Given the description of an element on the screen output the (x, y) to click on. 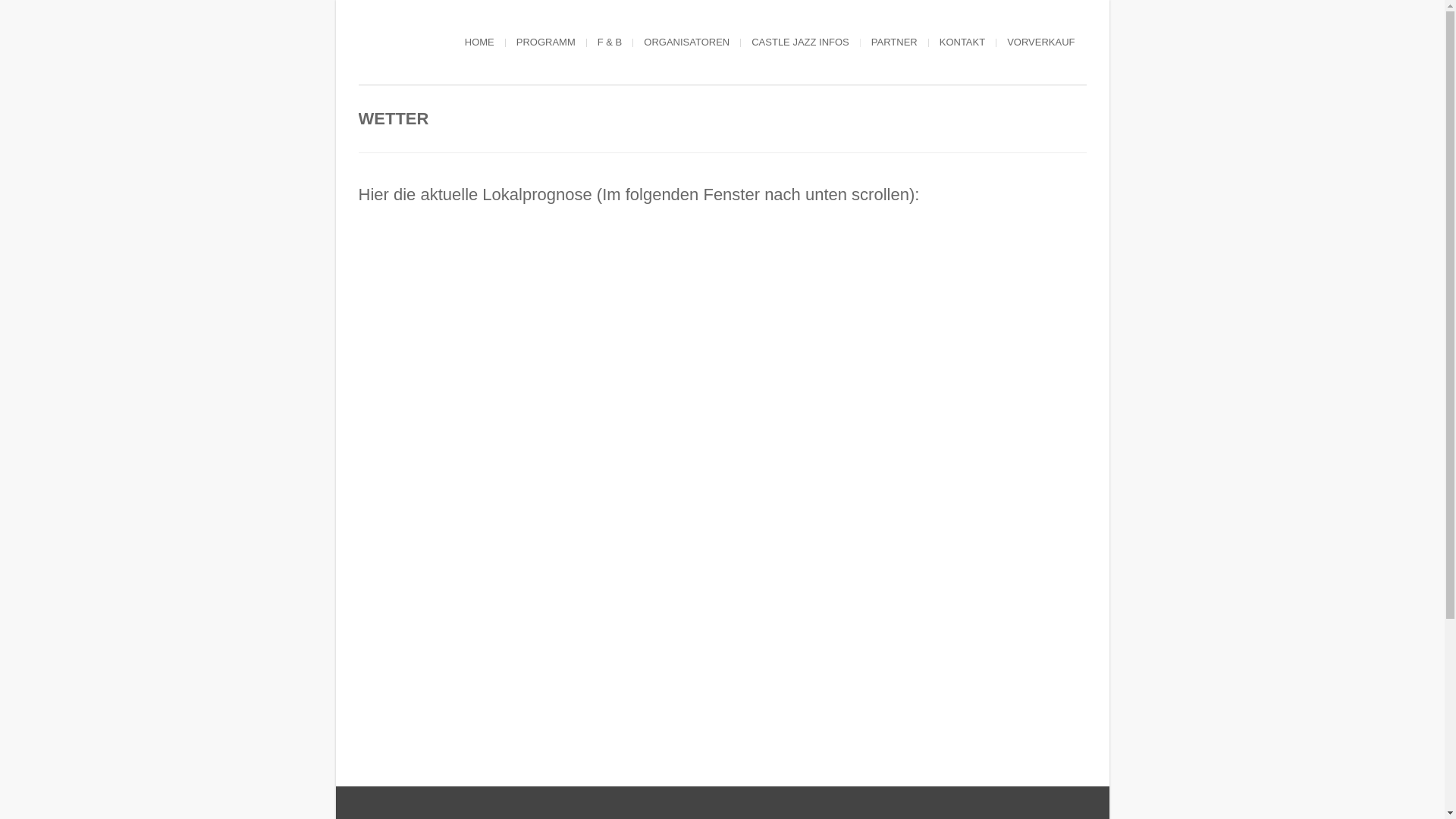
PROGRAMM Element type: text (545, 41)
HOME Element type: text (479, 41)
ORGANISATOREN Element type: text (686, 41)
VORVERKAUF Element type: text (1040, 41)
CASTLE JAZZ INFOS Element type: text (800, 41)
F & B Element type: text (609, 41)
PARTNER Element type: text (893, 41)
KONTAKT Element type: text (962, 41)
